Given the description of an element on the screen output the (x, y) to click on. 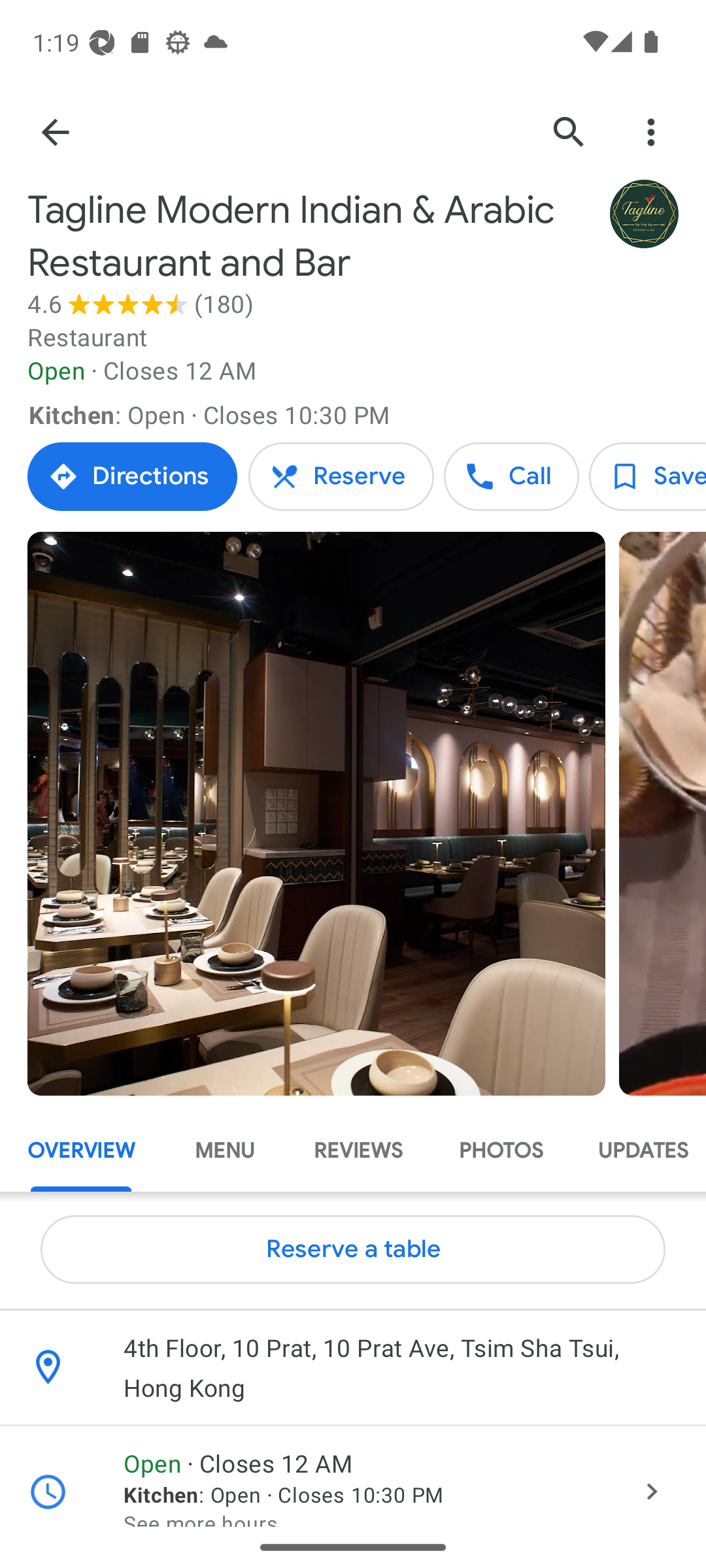
Back to Search (54, 131)
Search (568, 131)
Reserve a table Reserve Reserve a table (341, 476)
MENU Menu (224, 1150)
REVIEWS Reviews (358, 1150)
PHOTOS Photos (500, 1150)
UPDATES Updates (638, 1150)
Reserve a table Reserve a table Reserve a table (352, 1249)
